Given the description of an element on the screen output the (x, y) to click on. 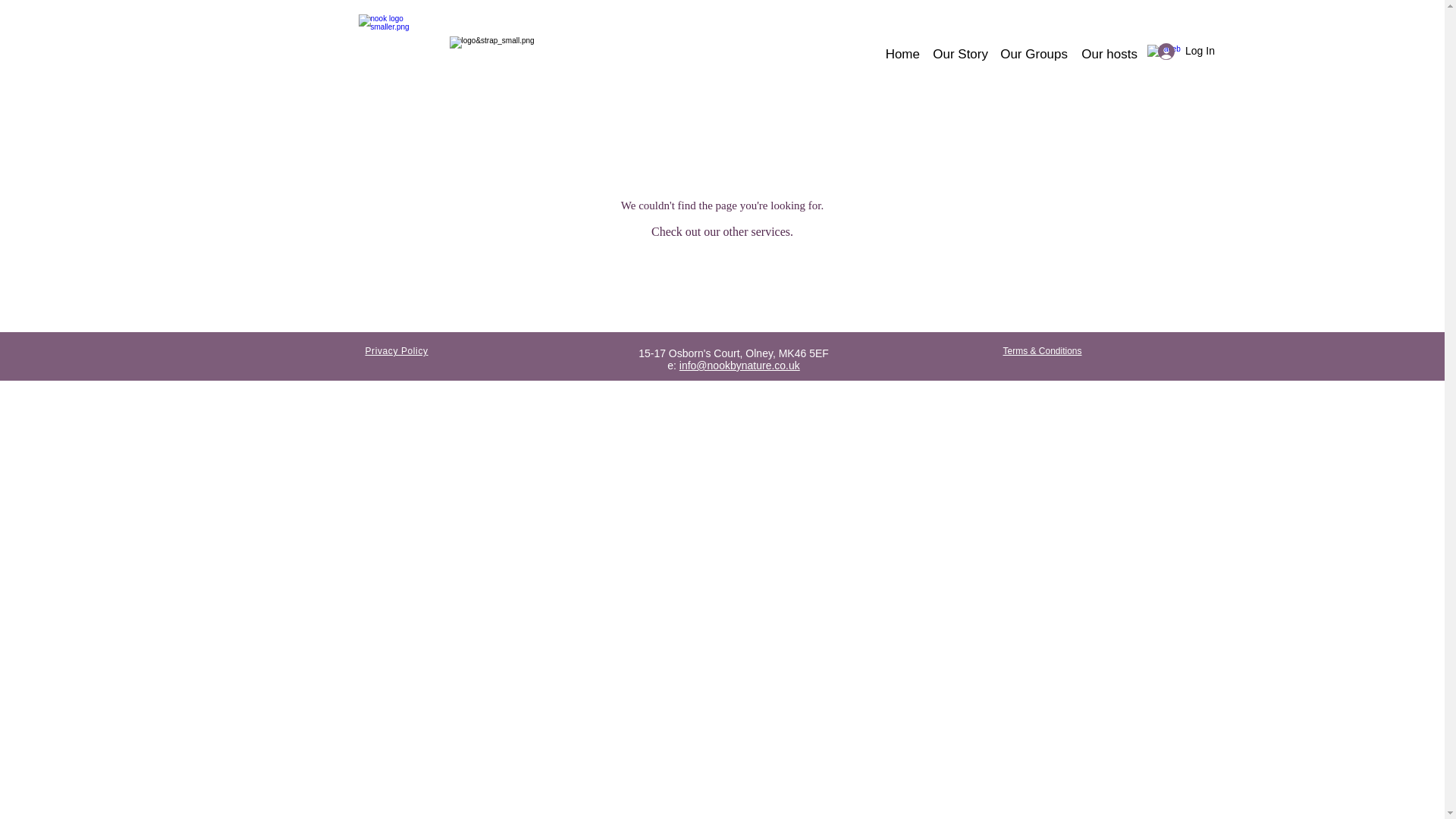
Privacy Policy (396, 350)
Log In (1181, 50)
Our hosts (1108, 47)
Our Story (960, 47)
Our Groups (1034, 47)
Home (901, 47)
